Given the description of an element on the screen output the (x, y) to click on. 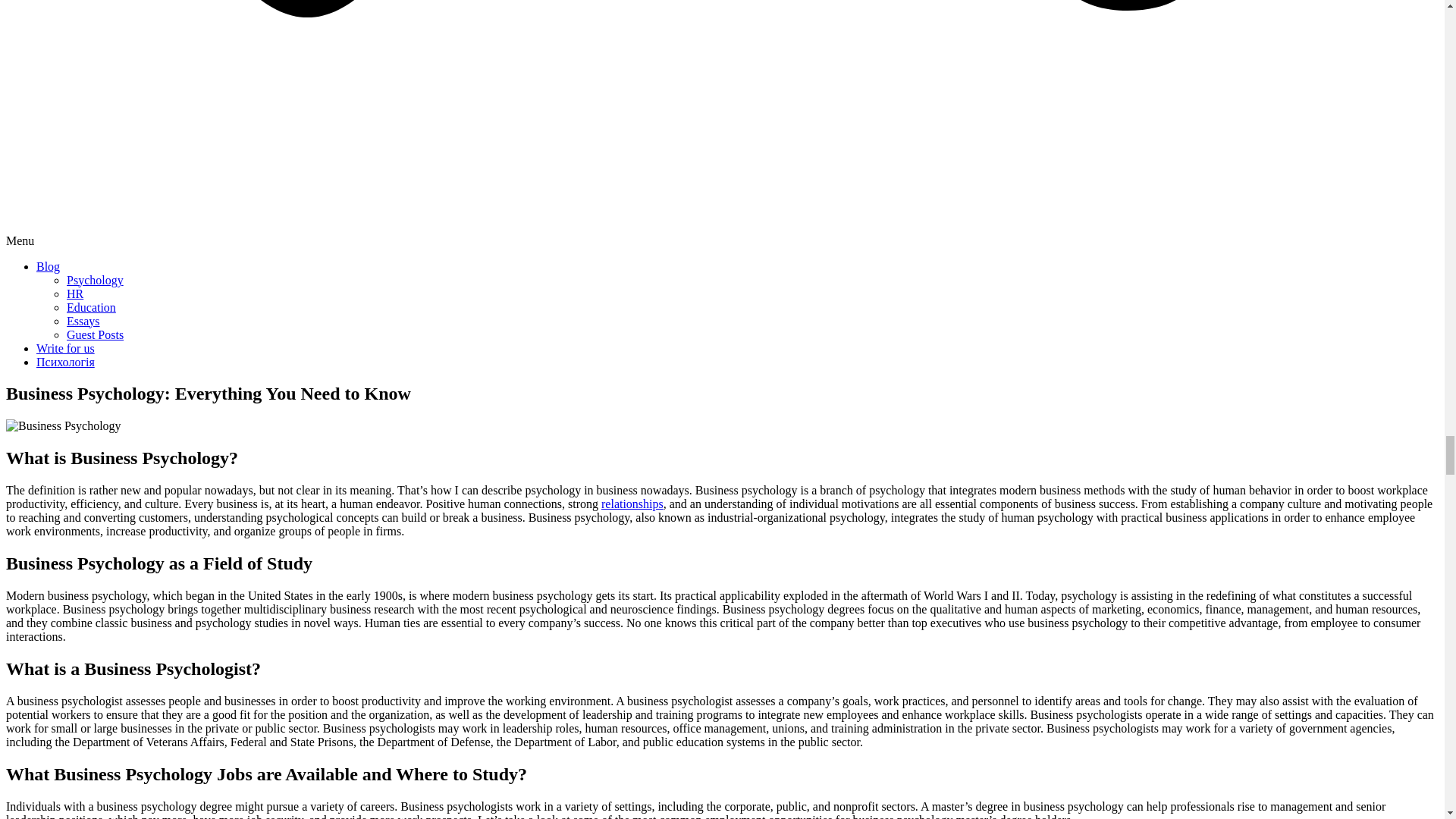
Essays (83, 319)
What is Emotional Intelligence? How to Improve it? (632, 503)
HR (74, 292)
Education (91, 306)
Blog (47, 265)
Business Psychology (62, 426)
relationships (632, 503)
Guest Posts (94, 333)
Psychology (94, 278)
Write for us (65, 347)
